Given the description of an element on the screen output the (x, y) to click on. 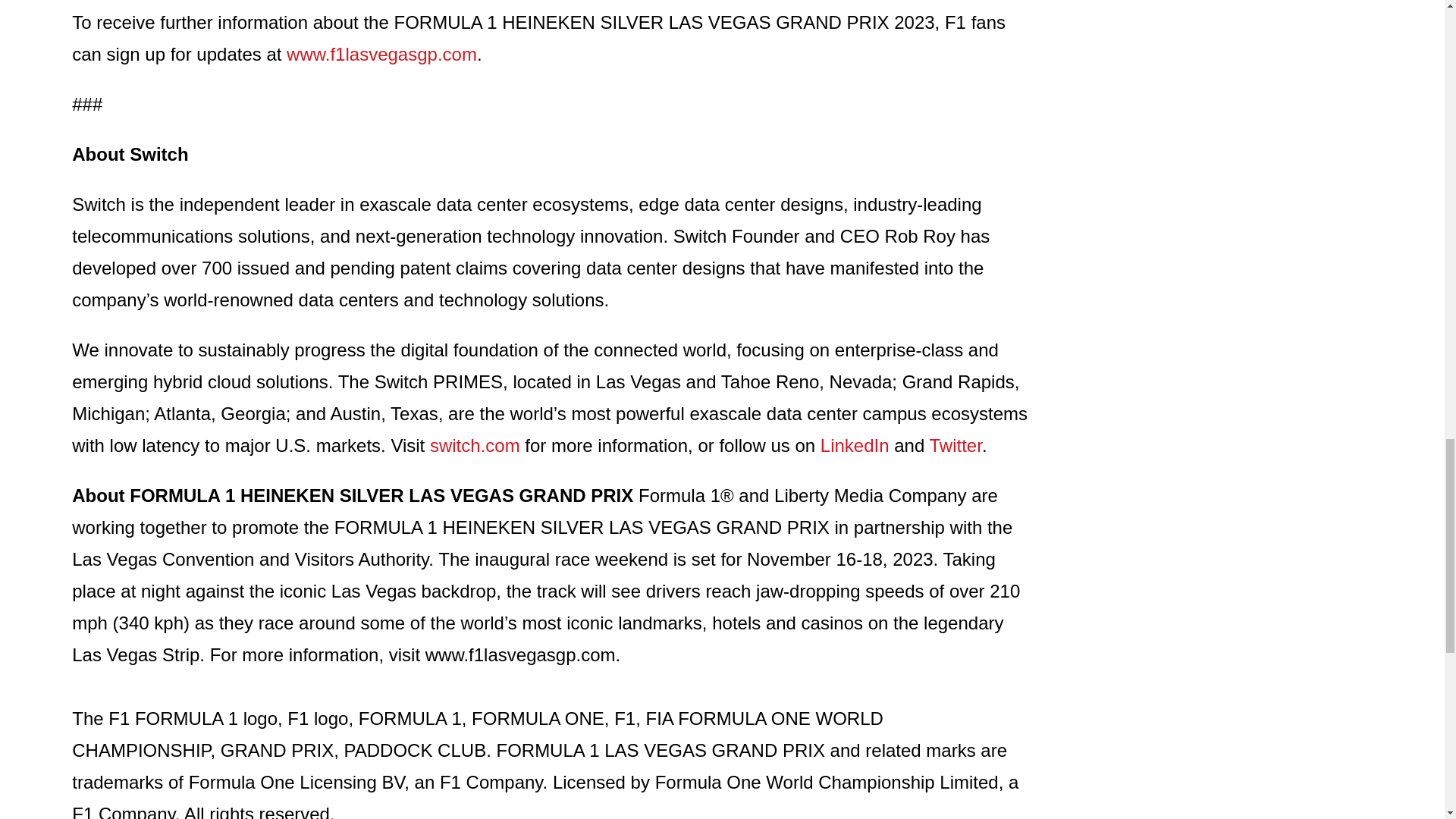
switch.com (474, 444)
LinkedIn (855, 444)
www.f1lasvegasgp.com (381, 54)
